Given the description of an element on the screen output the (x, y) to click on. 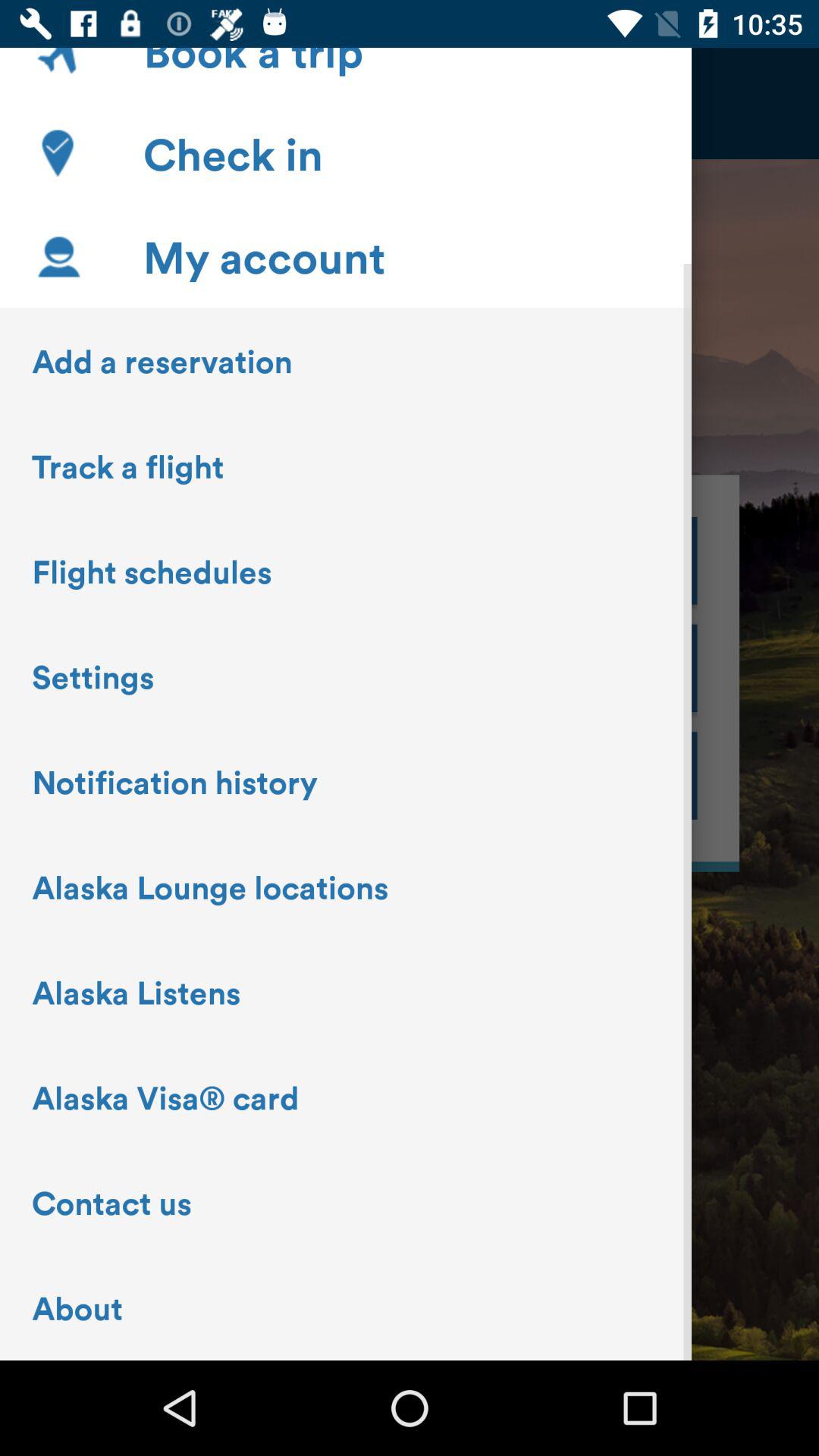
click the icon left to the text check in (57, 152)
click the icon beside my account (57, 256)
